Given the description of an element on the screen output the (x, y) to click on. 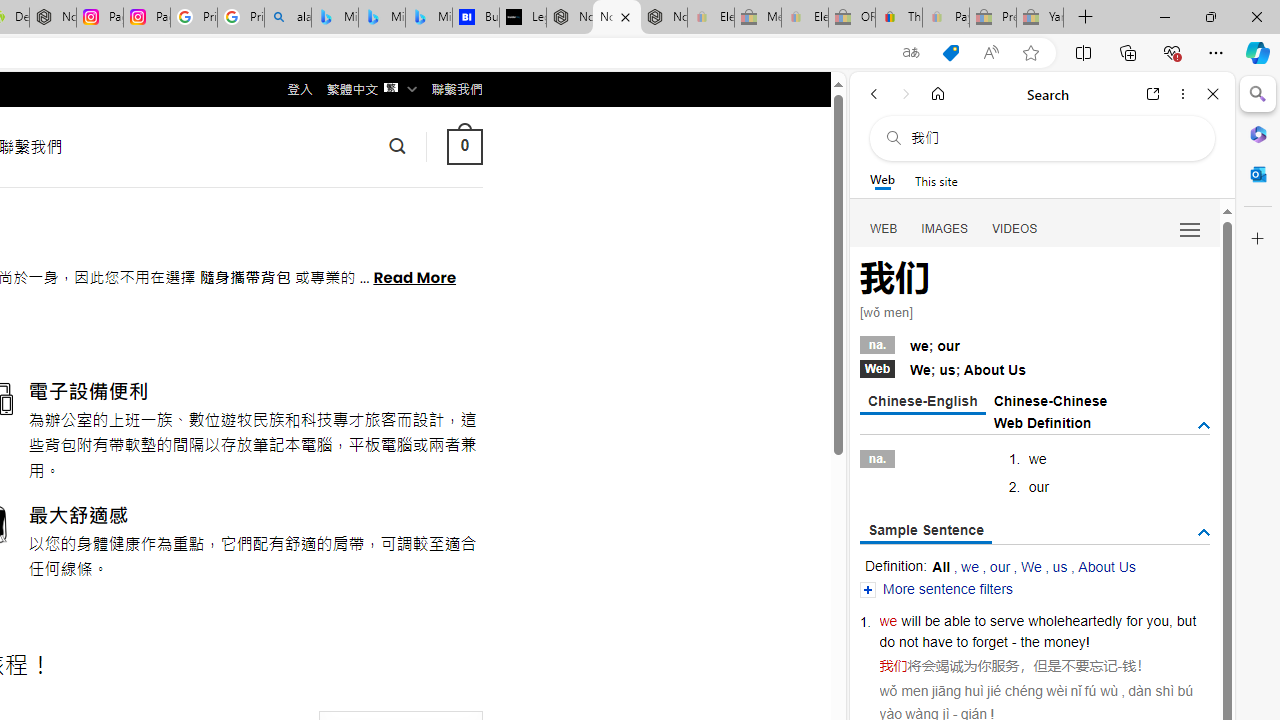
Us (1017, 370)
Chinese-Chinese (1050, 400)
na.we; our (1034, 343)
Yard, Garden & Outdoor Living - Sleeping (1040, 17)
forget (989, 642)
our (1000, 566)
